Given the description of an element on the screen output the (x, y) to click on. 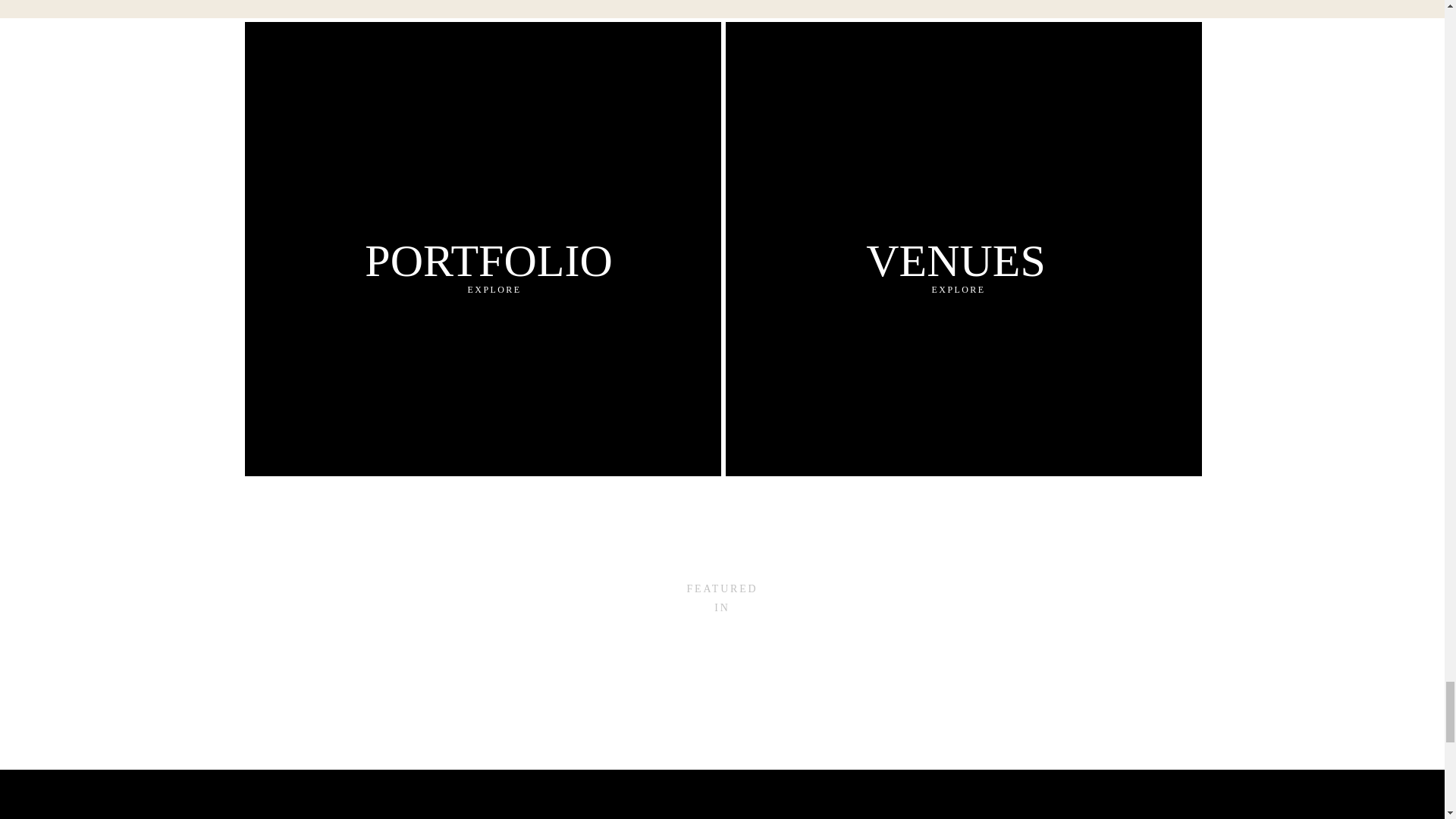
PORTFOLIO (488, 259)
EXPLORE (493, 292)
EXPLORE (957, 292)
VENUES (954, 256)
